Given the description of an element on the screen output the (x, y) to click on. 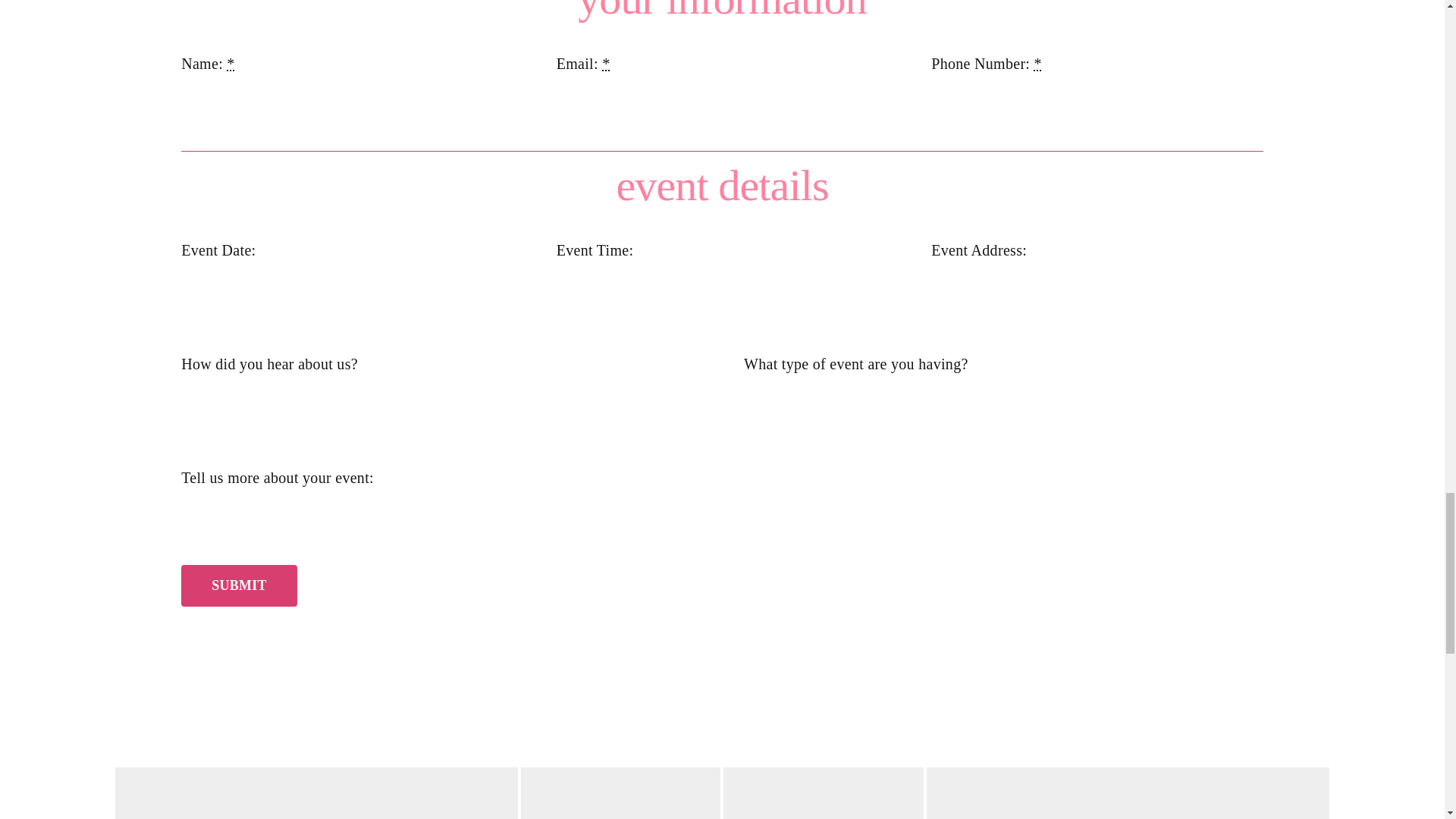
SUBMIT (238, 585)
